Given the description of an element on the screen output the (x, y) to click on. 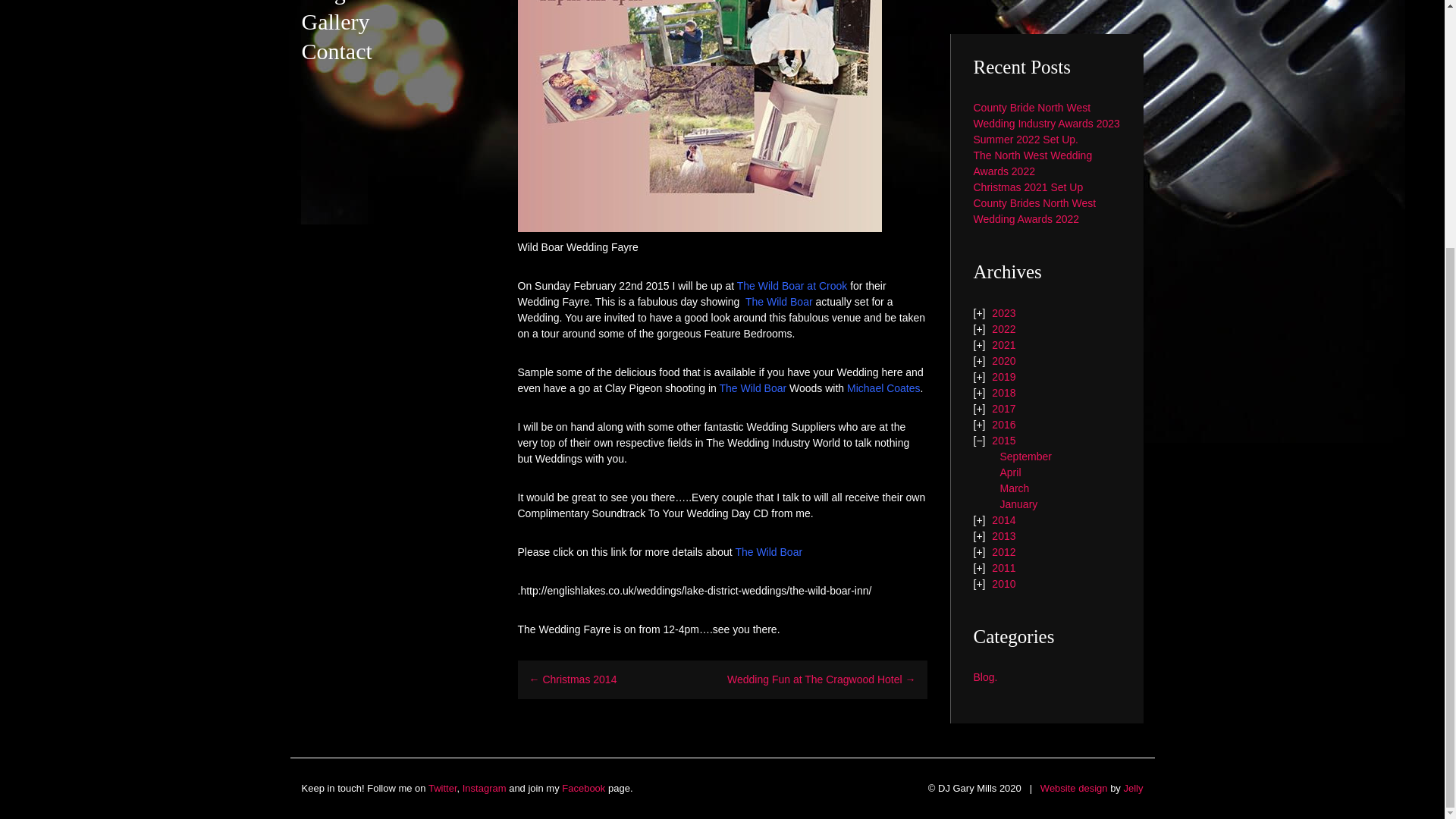
2023 (1002, 312)
Gallery (335, 20)
Contact (336, 51)
2022 (1002, 328)
2021 (1002, 344)
The Wild Boar (752, 387)
Blog (323, 3)
Christmas 2021 Set Up (1028, 186)
Shooting (883, 387)
Wild Boar (768, 551)
2020 (1002, 360)
The Wild Boar at Crook (791, 285)
County Brides North West Wedding Awards 2022 (1035, 211)
Summer 2022 Set Up. (1026, 139)
Wild Boar (752, 387)
